Given the description of an element on the screen output the (x, y) to click on. 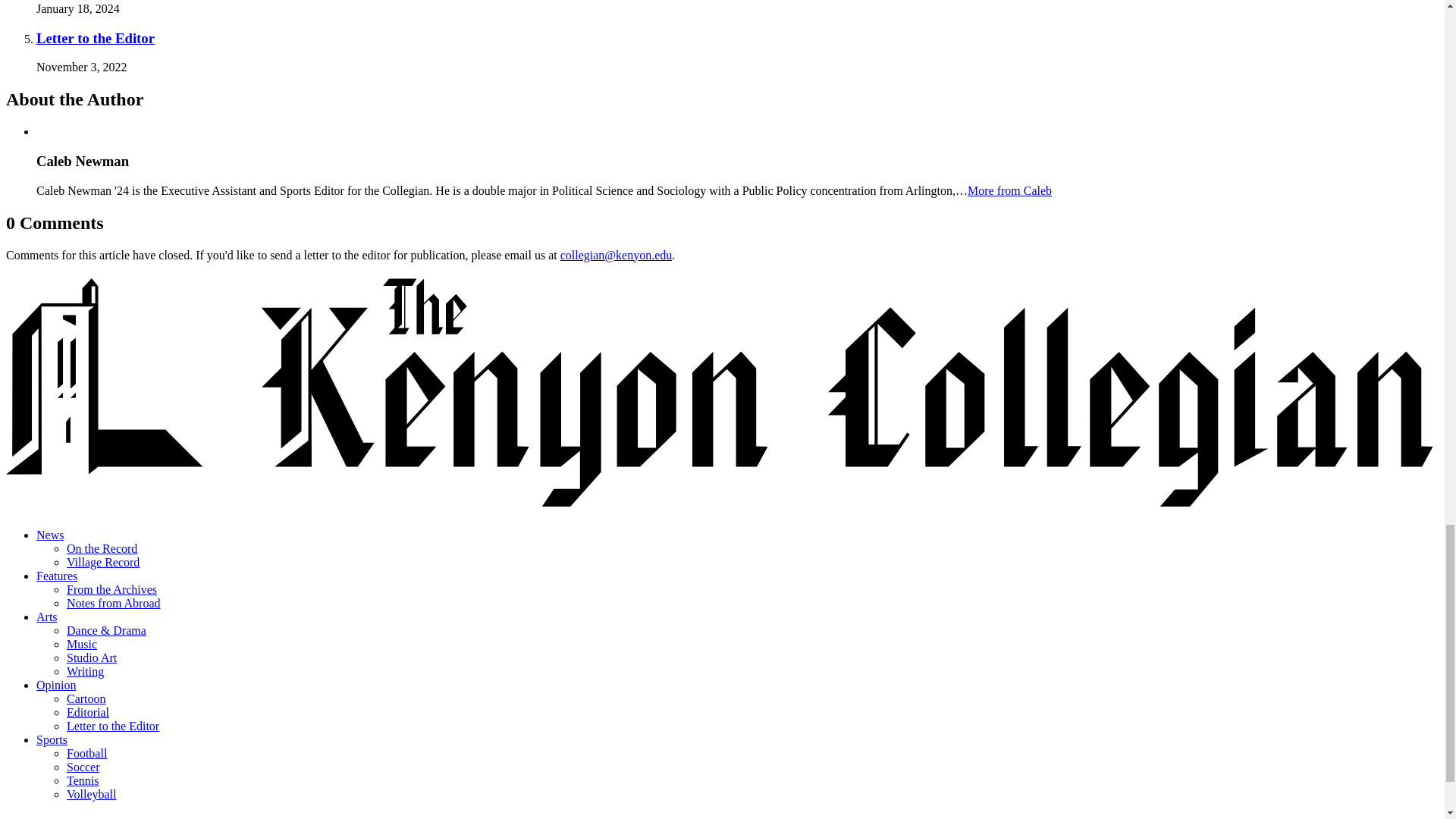
More from Caleb (1009, 190)
On the Record (101, 548)
Village Record (102, 562)
News (50, 534)
Letter to the Editor (95, 37)
Notes from Abroad (113, 603)
Arts (47, 616)
Features (56, 575)
From the Archives (111, 589)
